Given the description of an element on the screen output the (x, y) to click on. 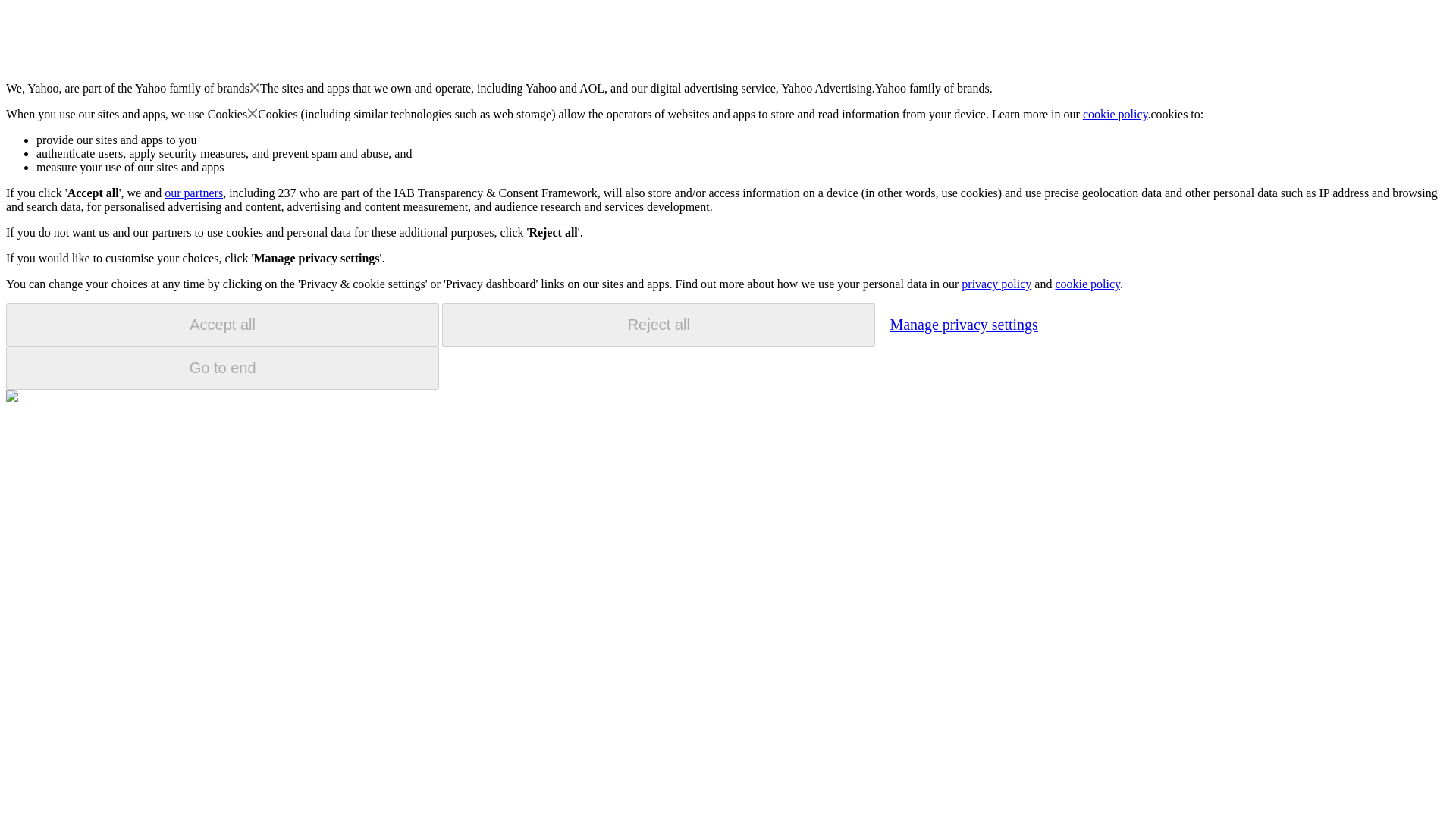
Manage privacy settings (963, 323)
our partners (193, 192)
Reject all (658, 324)
Go to end (222, 367)
privacy policy (995, 283)
cookie policy (1086, 283)
Accept all (222, 324)
cookie policy (1115, 113)
